Given the description of an element on the screen output the (x, y) to click on. 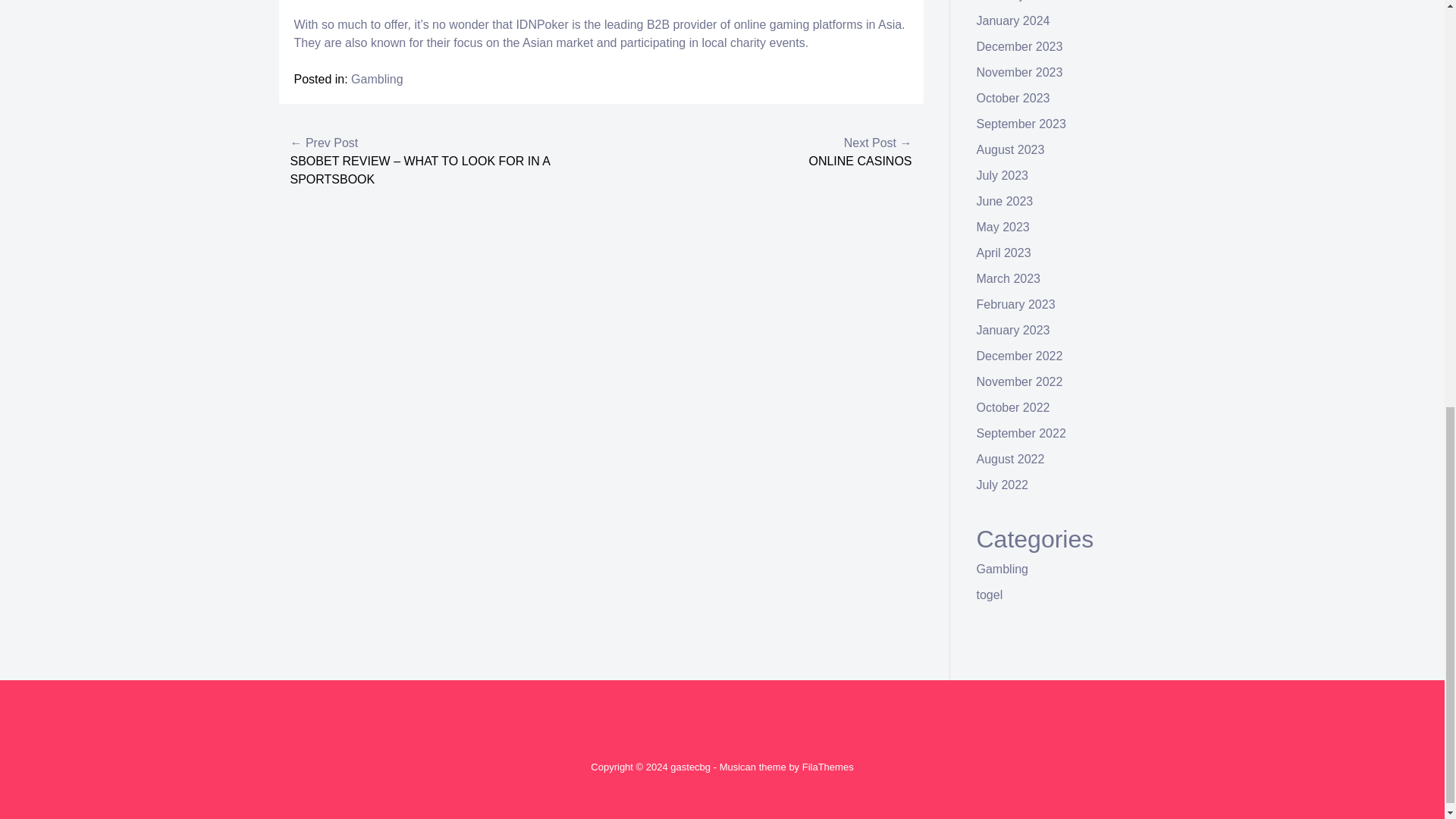
February 2024 (1015, 0)
September 2023 (1020, 123)
April 2023 (1003, 252)
October 2022 (1012, 407)
August 2023 (1010, 149)
January 2023 (1012, 329)
May 2023 (1002, 226)
gastecbg (689, 767)
November 2022 (1019, 381)
June 2023 (1004, 201)
December 2023 (1019, 46)
February 2023 (1015, 304)
December 2022 (1019, 355)
November 2023 (1019, 72)
October 2023 (1012, 97)
